Given the description of an element on the screen output the (x, y) to click on. 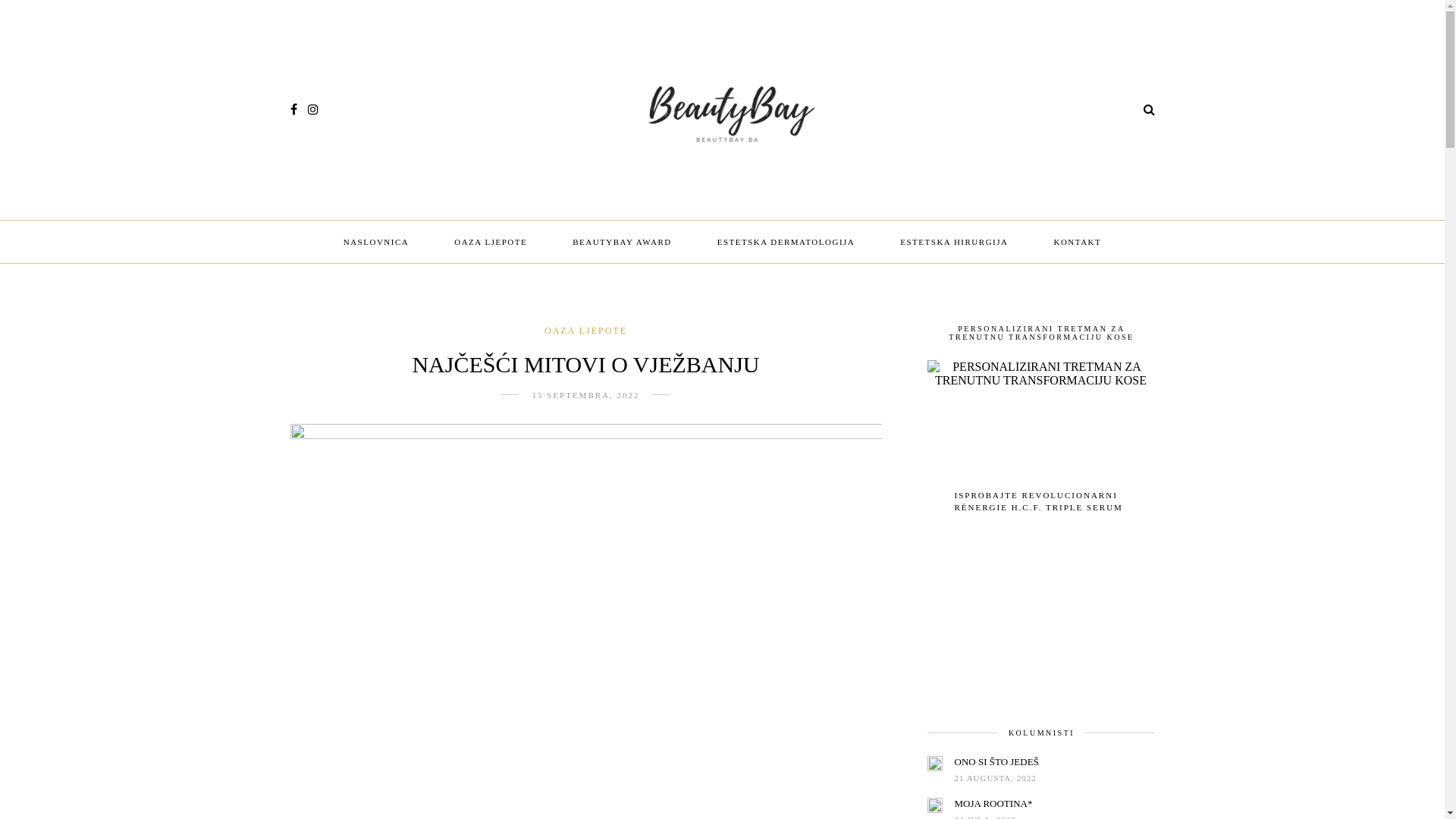
BEAUTYBAY AWARD Element type: text (621, 241)
NASLOVNICA Element type: text (376, 241)
ESTETSKA DERMATOLOGIJA Element type: text (786, 241)
15 SEPTEMBRA, 2022 Element type: text (585, 394)
MOJA ROOTINA* Element type: text (992, 803)
KONTAKT Element type: text (1077, 241)
OAZA LJEPOTE Element type: text (585, 330)
OAZA LJEPOTE Element type: text (490, 241)
ESTETSKA HIRURGIJA Element type: text (953, 241)
